Given the description of an element on the screen output the (x, y) to click on. 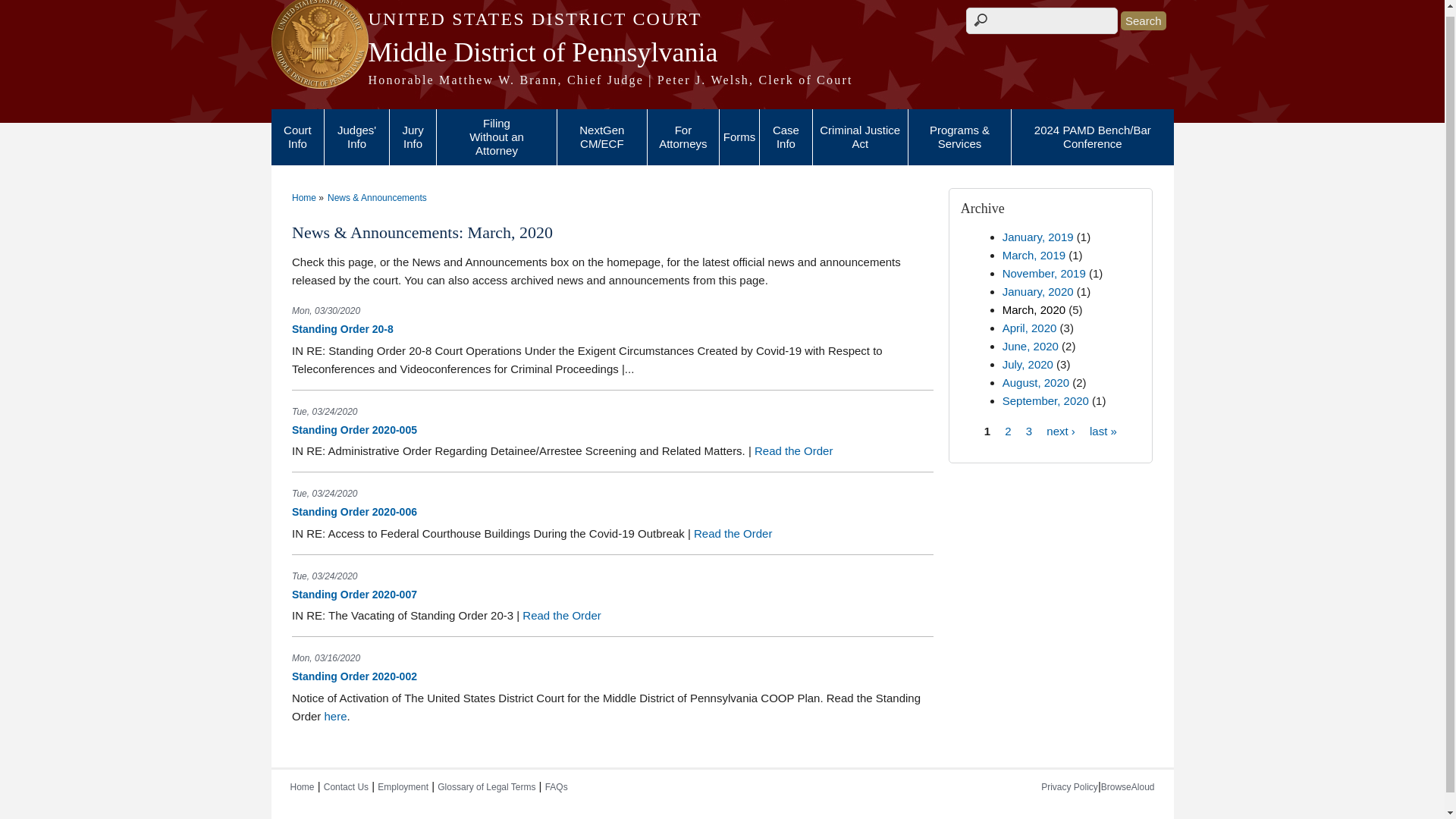
Go to last page (1102, 430)
UNITED STATES DISTRICT COURT (721, 18)
Search (1143, 20)
Home (721, 80)
Court Info (297, 137)
Jury Info (413, 137)
Search (1143, 20)
Middle District of Pennsylvania (721, 52)
Home (721, 18)
Enter the terms you wish to search for. (1042, 20)
